Given the description of an element on the screen output the (x, y) to click on. 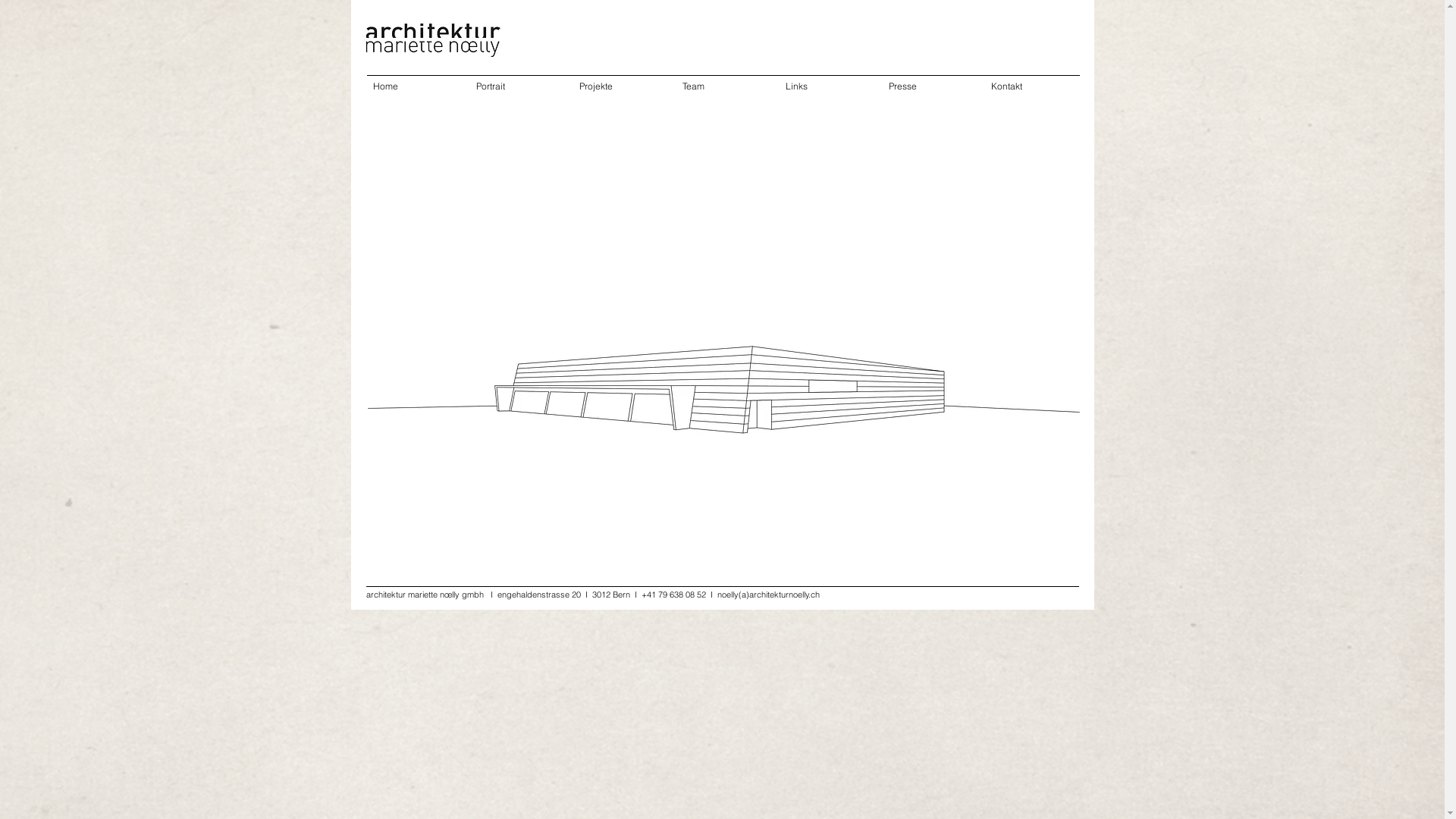
www.architekturnoelly.ch Element type: text (417, 376)
Neubau Bushalle Ortschwaben Element type: hover (723, 357)
Links Element type: text (824, 79)
Team Element type: text (721, 79)
Projekte Element type: text (618, 79)
Portrait Element type: text (515, 79)
Home Element type: text (412, 79)
Presse Element type: text (927, 79)
Kontakt Element type: text (1030, 79)
